Given the description of an element on the screen output the (x, y) to click on. 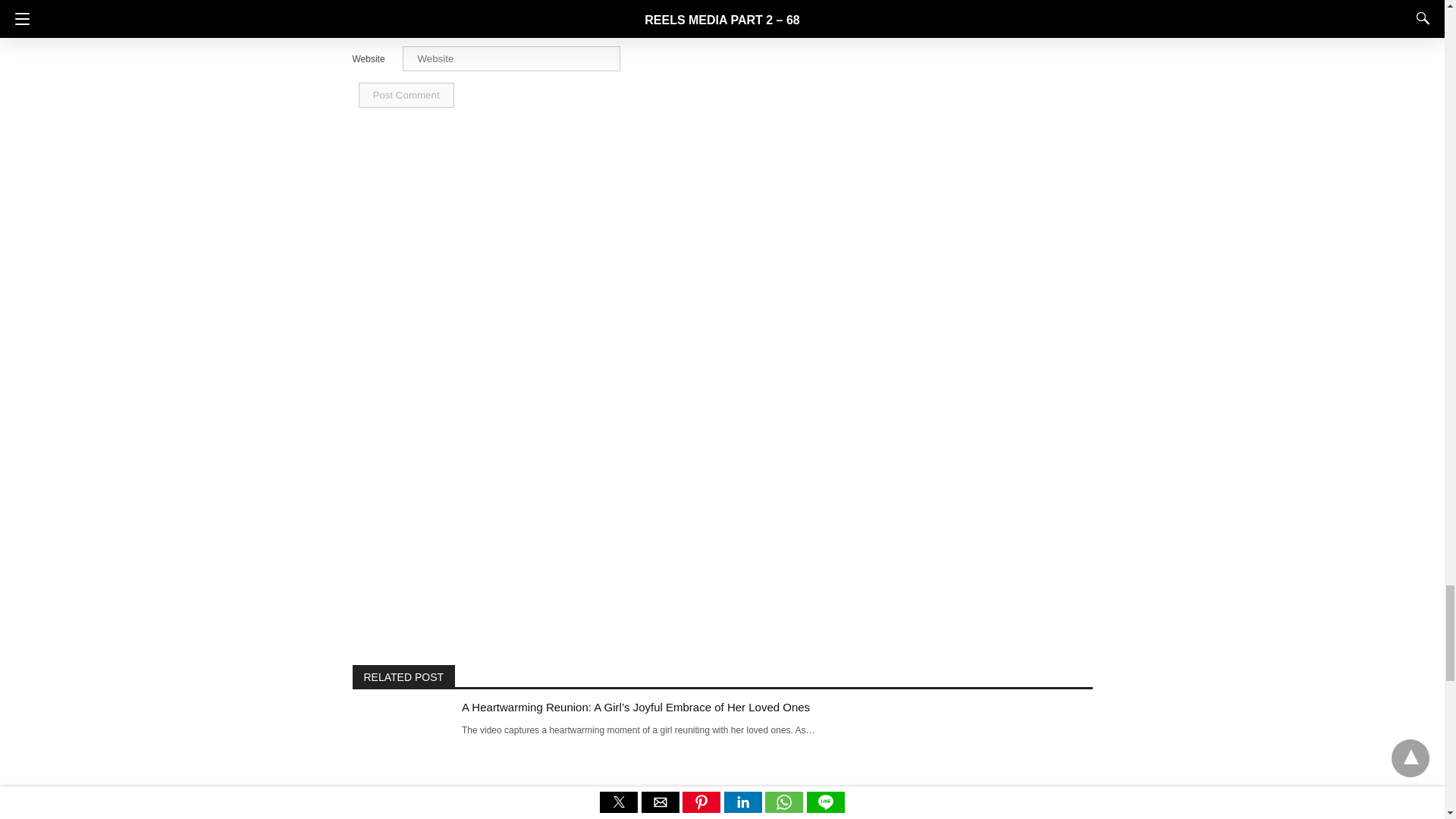
Post Comment (405, 94)
Post Comment (405, 94)
